Given the description of an element on the screen output the (x, y) to click on. 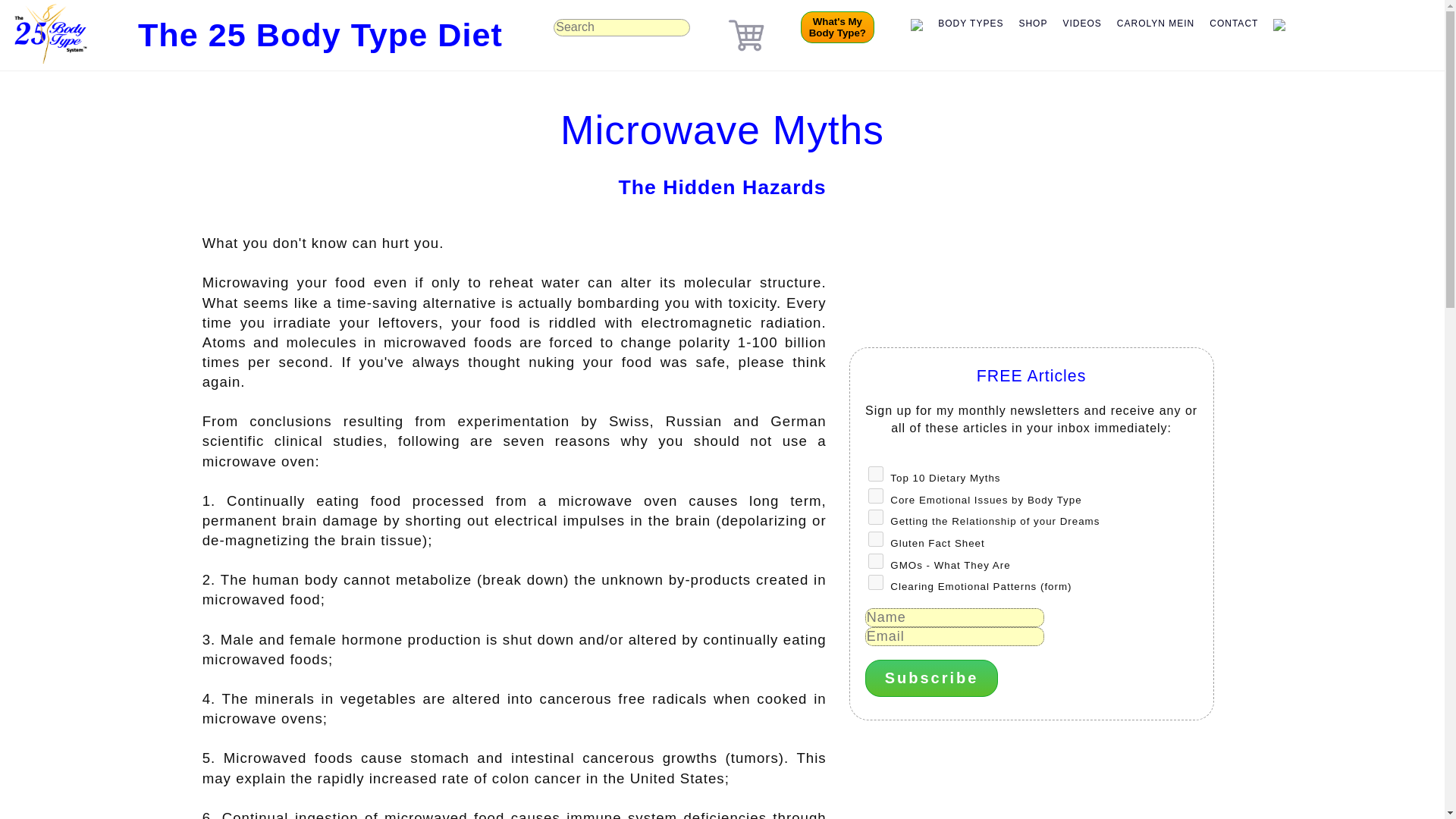
Subscribe (931, 678)
VIDEOS (1081, 23)
yes (875, 560)
CONTACT (1233, 23)
SHOP (1032, 23)
yes (875, 473)
yes (875, 516)
yes (875, 581)
BODY TYPES (970, 23)
yes (875, 539)
yes (875, 495)
CAROLYN MEIN (1155, 23)
Subscribe (837, 27)
